Given the description of an element on the screen output the (x, y) to click on. 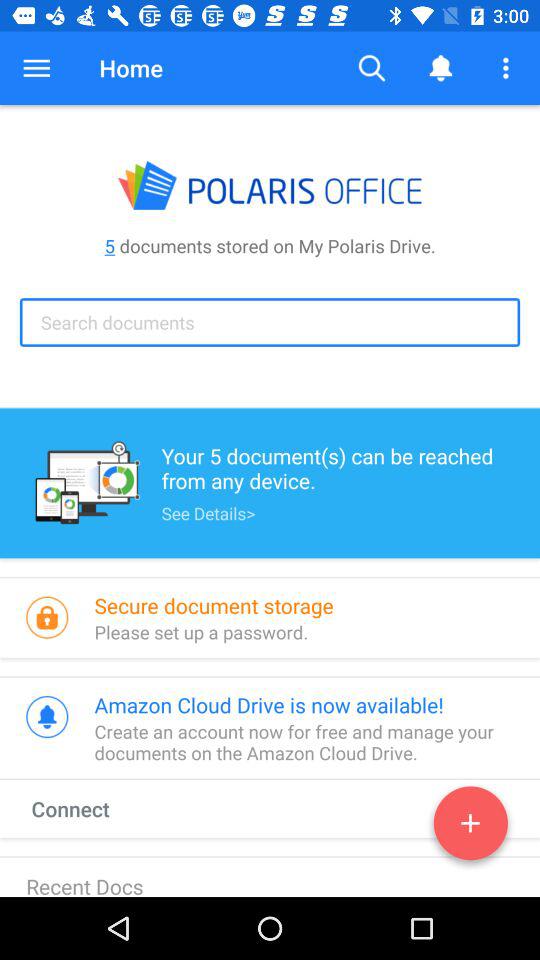
add documents (470, 827)
